Given the description of an element on the screen output the (x, y) to click on. 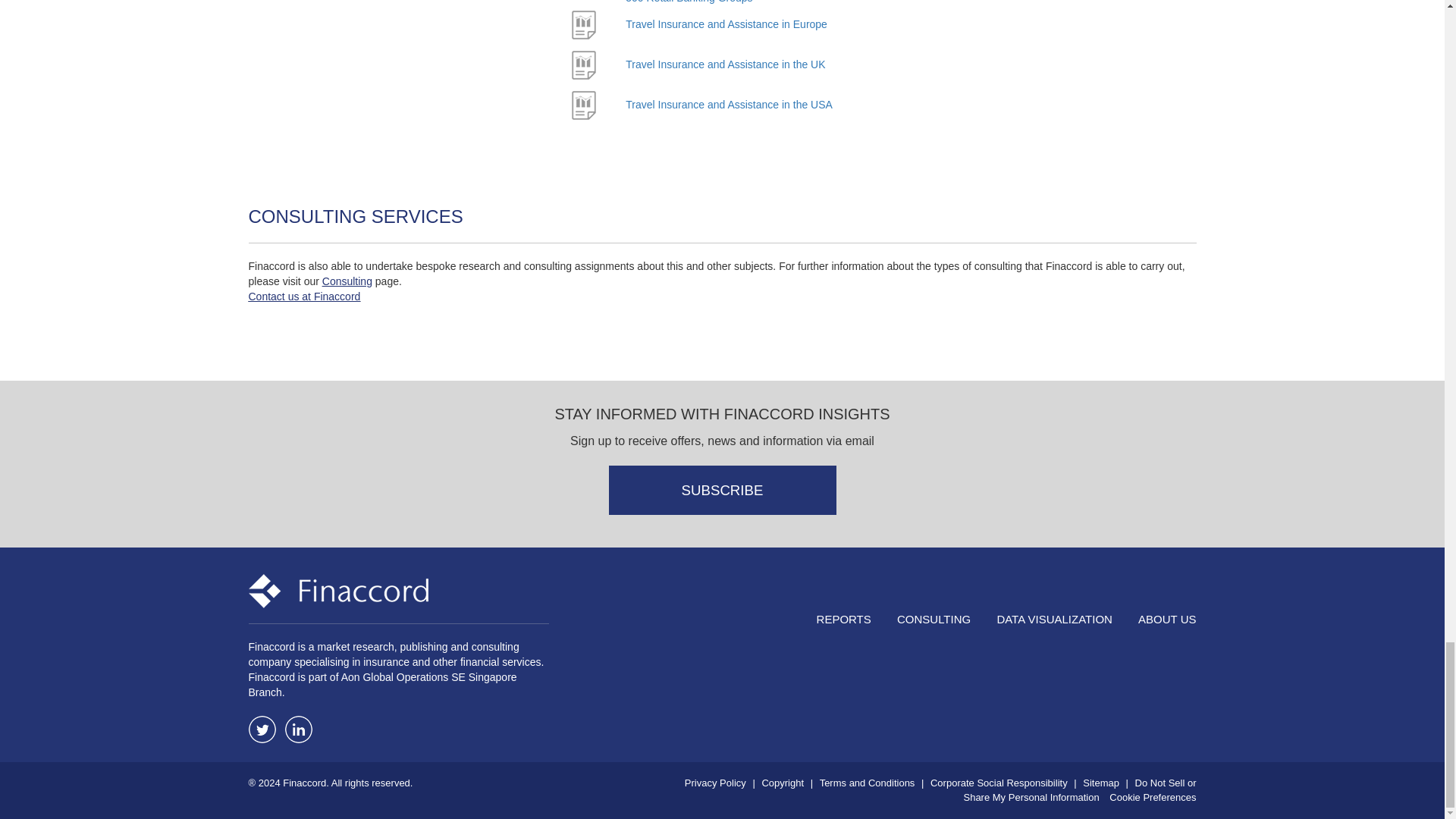
Consulting (346, 281)
SUBSCRIBE (721, 490)
Travel Insurance and Assistance in the USA (729, 104)
Travel Insurance and Assistance in the UK (725, 64)
Contact us at Finaccord (304, 296)
Travel Insurance and Assistance in Europe (726, 24)
